Given the description of an element on the screen output the (x, y) to click on. 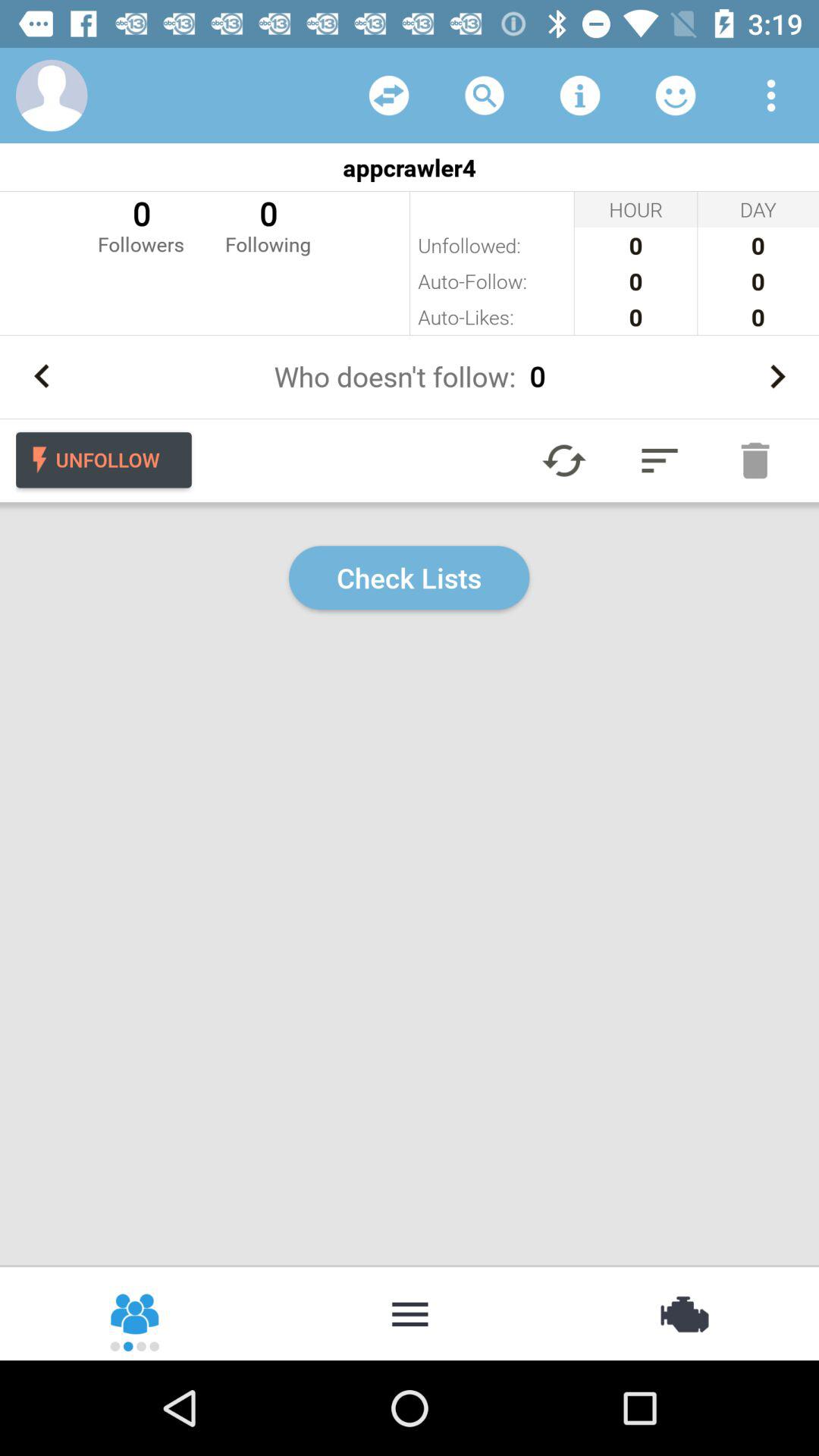
tap unfollow icon (103, 459)
